Given the description of an element on the screen output the (x, y) to click on. 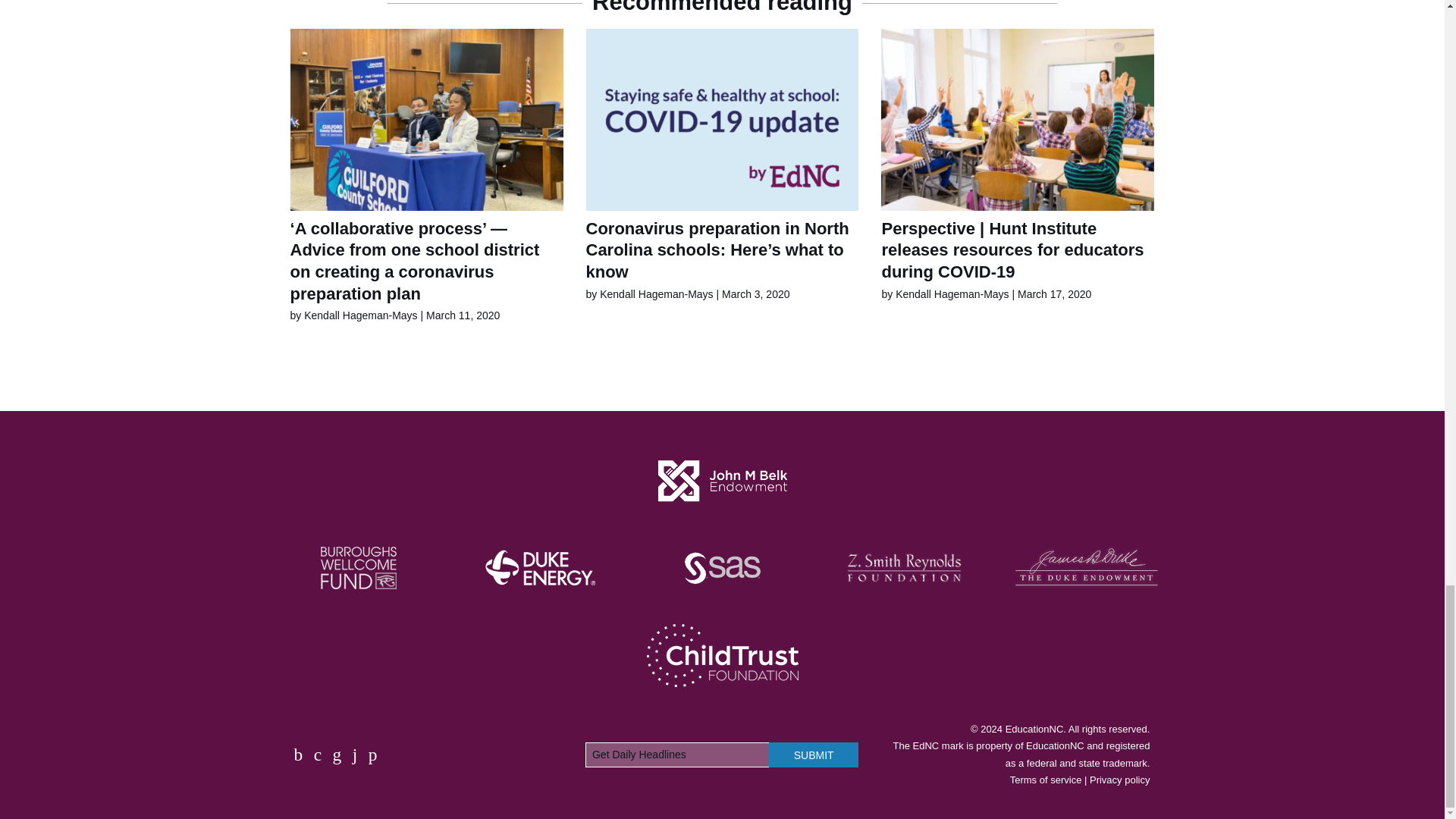
SUBMIT (813, 754)
